Given the description of an element on the screen output the (x, y) to click on. 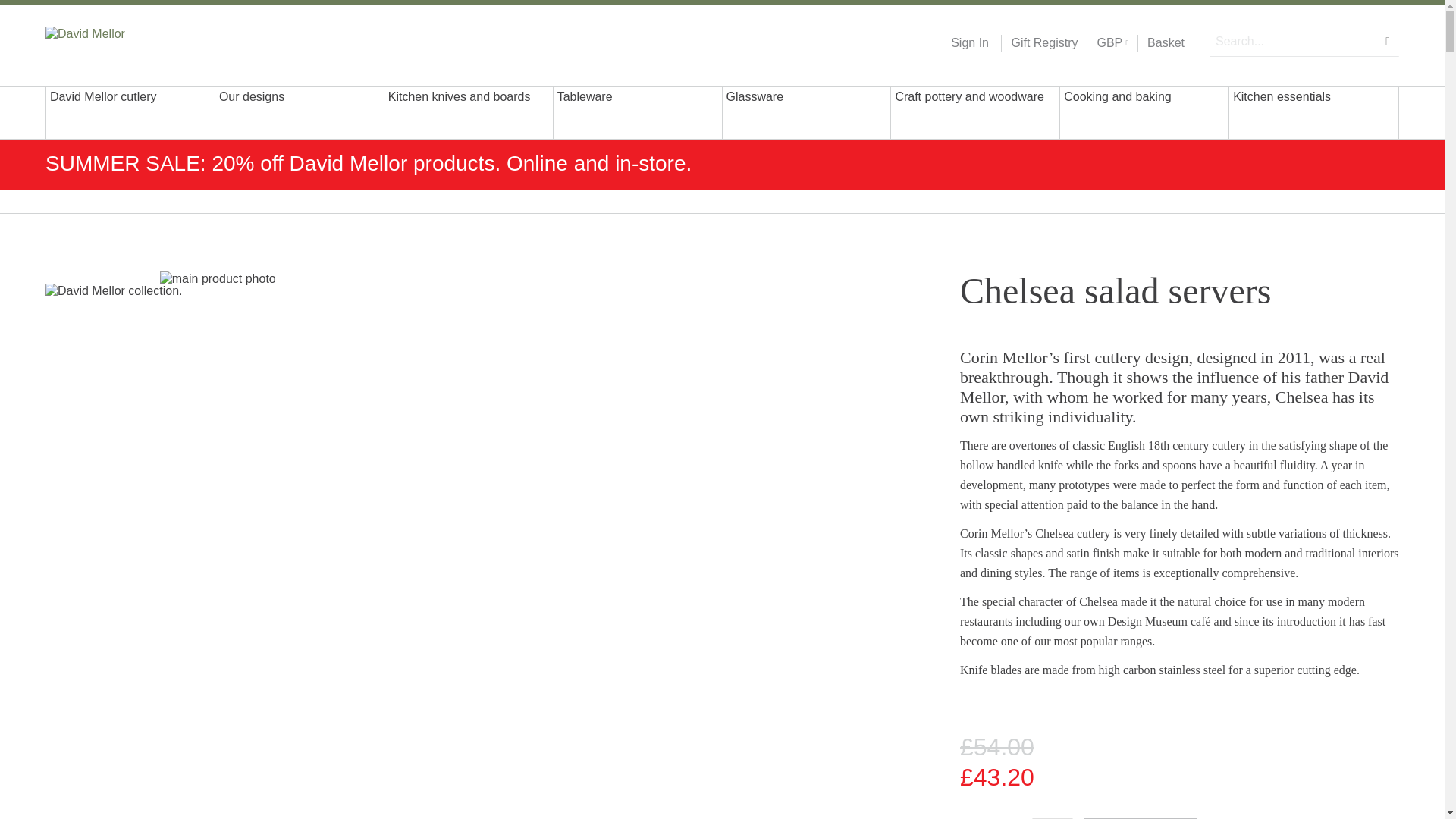
1 (1052, 818)
Qty (1052, 818)
David Mellor cutlery (130, 112)
David Mellor (143, 42)
Basket (1166, 43)
Search (1388, 41)
Gift Registry (1039, 43)
Sign In (969, 43)
Search (1388, 41)
